Given the description of an element on the screen output the (x, y) to click on. 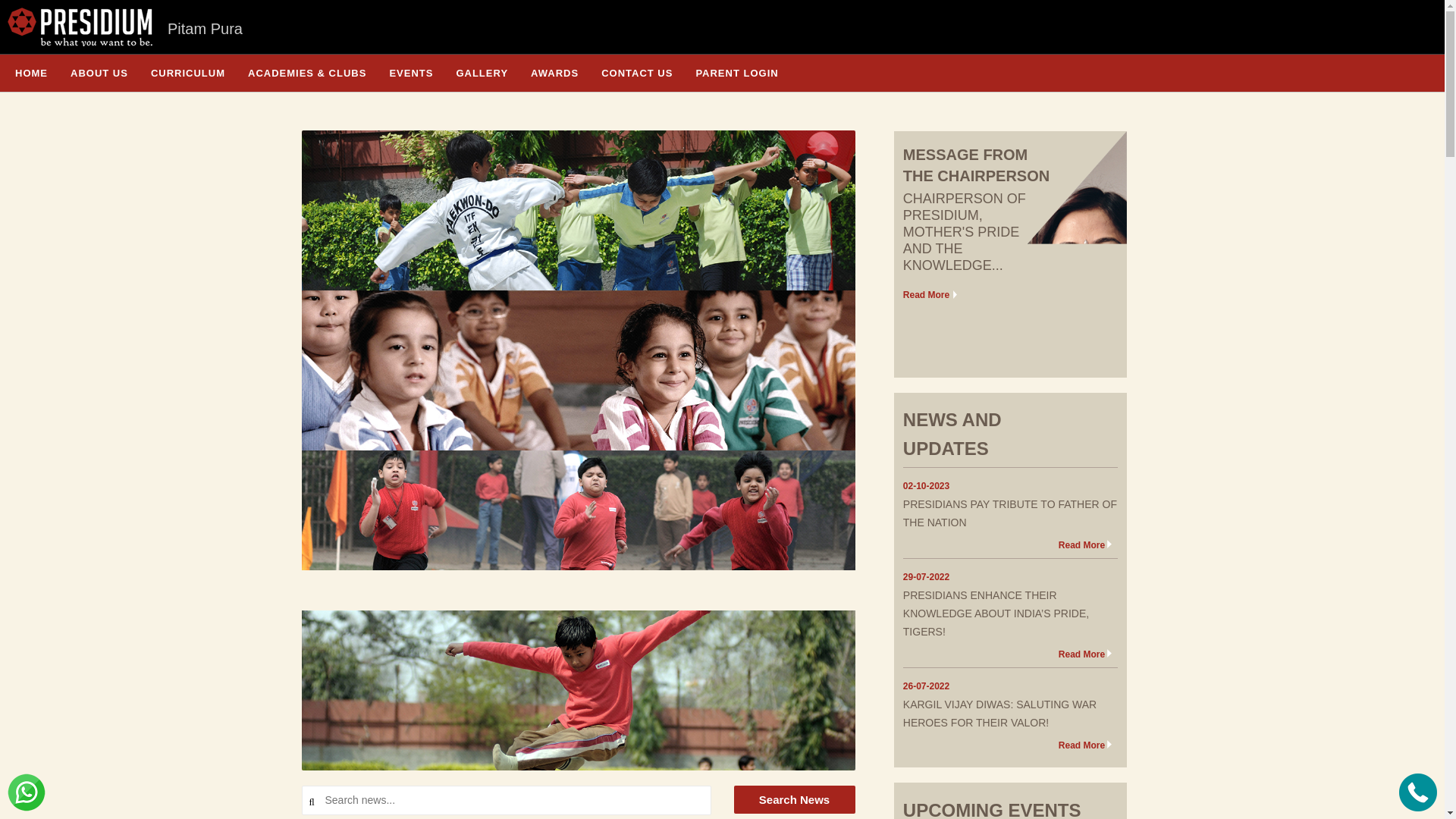
WhatsApp us (26, 792)
ABOUT US (98, 72)
Search News (794, 799)
AWARDS (554, 72)
CONTACT US (636, 72)
PARENT LOGIN (736, 72)
EVENTS (411, 72)
Call Us (1418, 792)
CURRICULUM (187, 72)
GALLERY (481, 72)
HOME (31, 72)
Search News (794, 799)
